Given the description of an element on the screen output the (x, y) to click on. 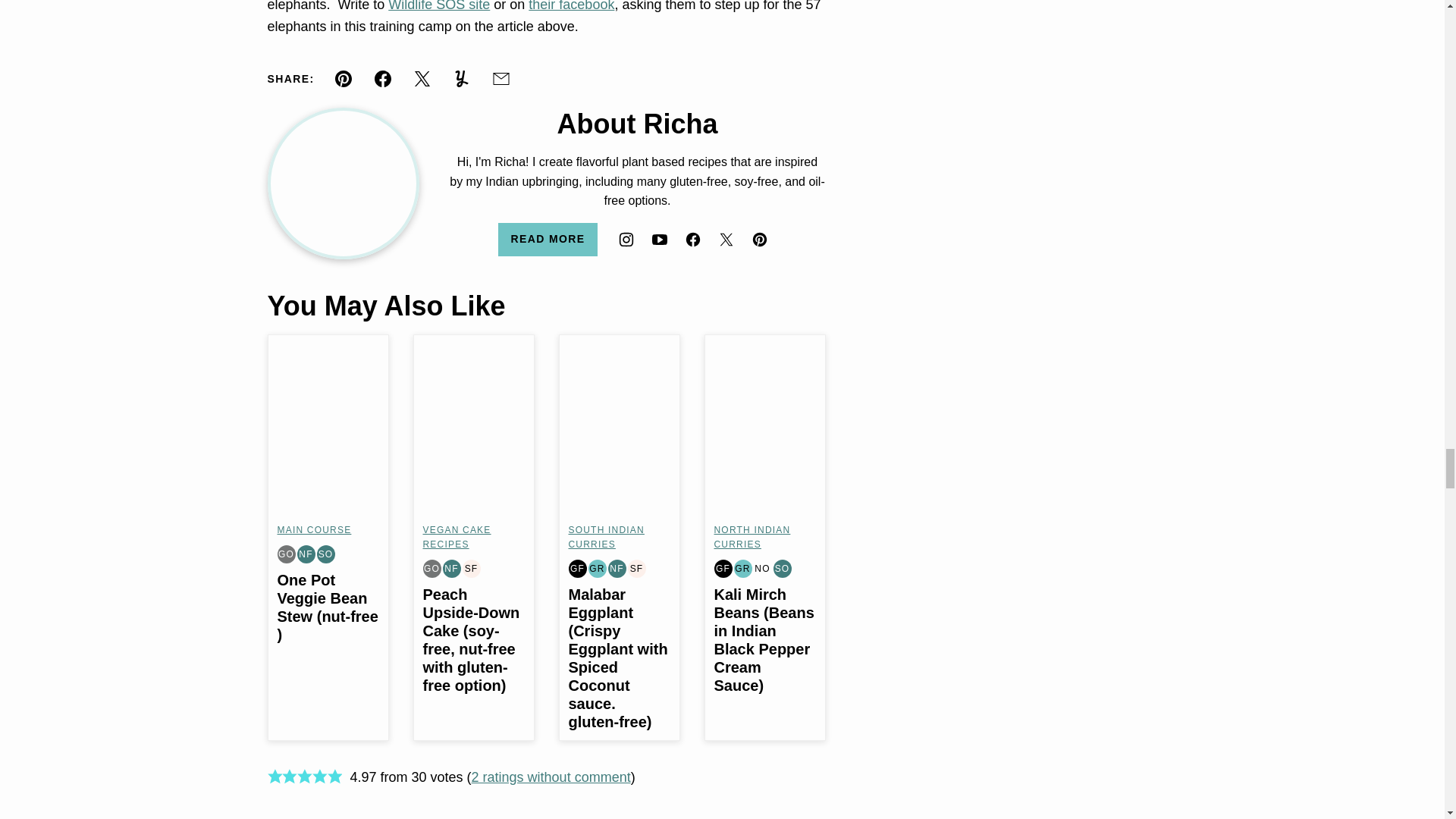
Gluten Free Option (432, 568)
Soy Free (471, 568)
Share on Yummly (462, 78)
Share on Facebook (382, 78)
Share on Twitter (422, 78)
Nut-Free (451, 568)
Grain Free (597, 568)
Share via Email (501, 78)
Nut-Free (617, 568)
Nut-Free (306, 554)
